Given the description of an element on the screen output the (x, y) to click on. 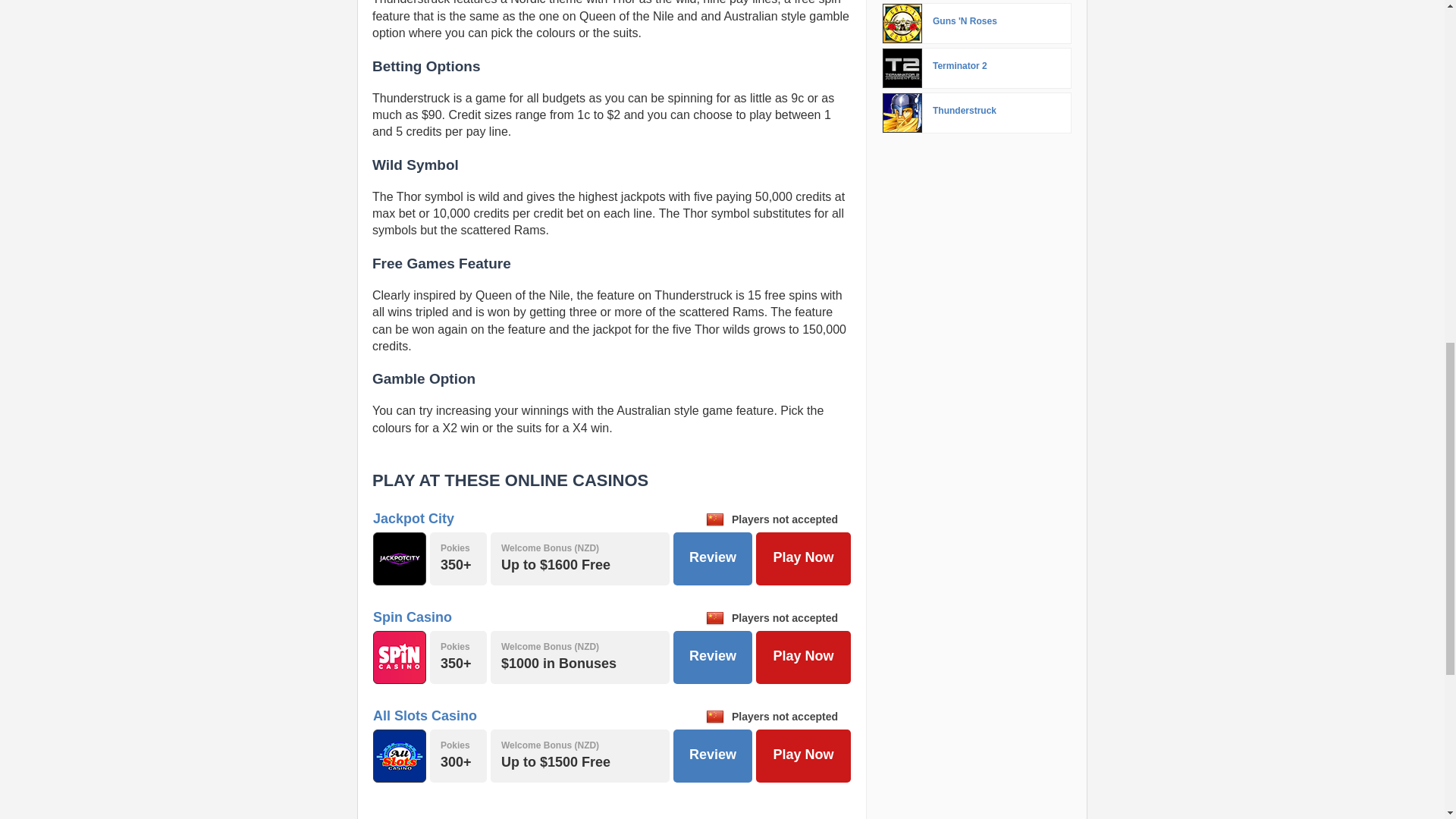
Guns 'N Roses (902, 23)
Spin Casino (411, 616)
Terminator 2 (902, 67)
Play Now (802, 656)
Play Now (802, 558)
Review (712, 755)
Review (712, 558)
Review (712, 656)
Play Now (802, 755)
All Slots Casino (424, 715)
